Given the description of an element on the screen output the (x, y) to click on. 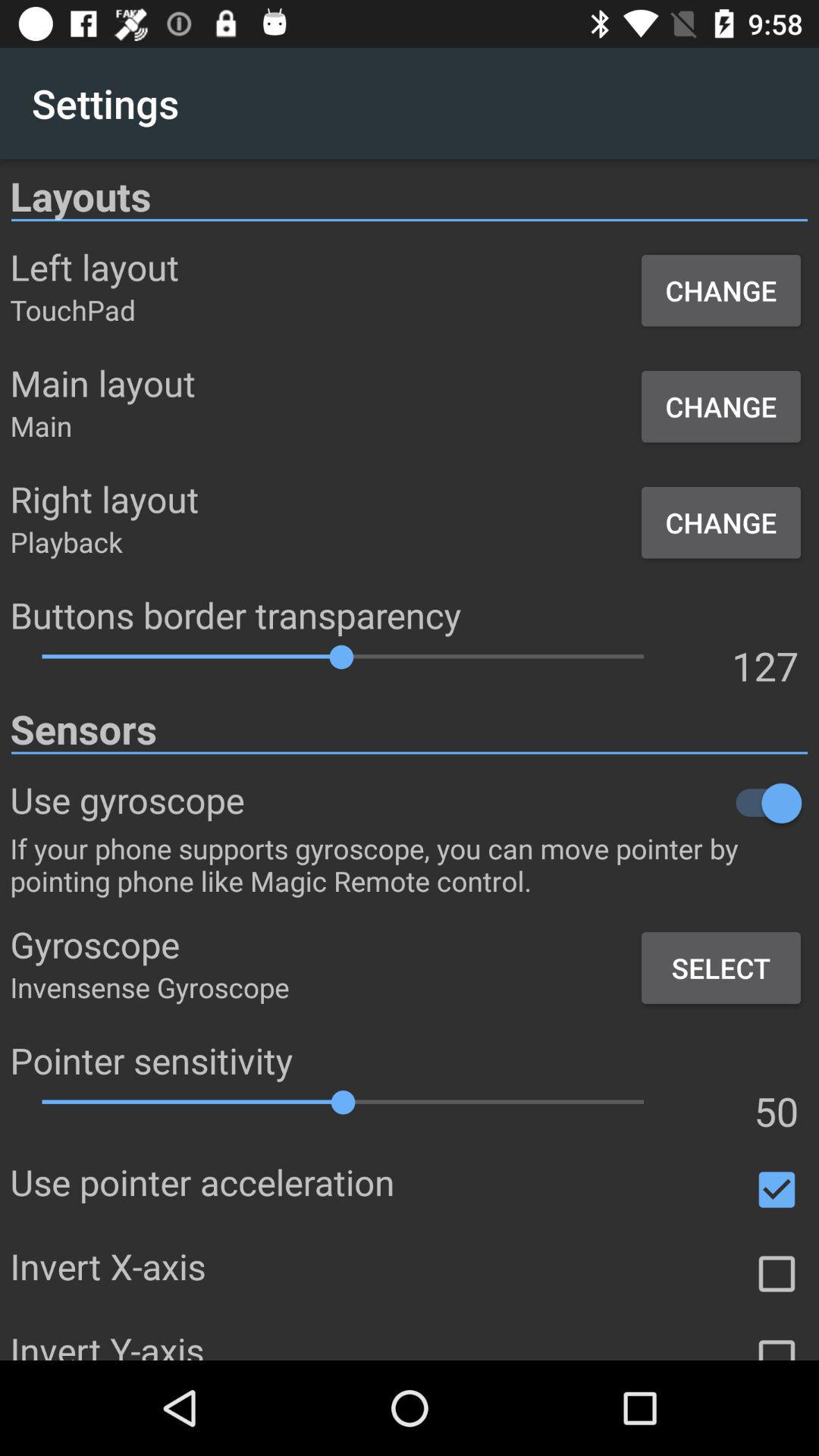
invert y axis (776, 1343)
